Given the description of an element on the screen output the (x, y) to click on. 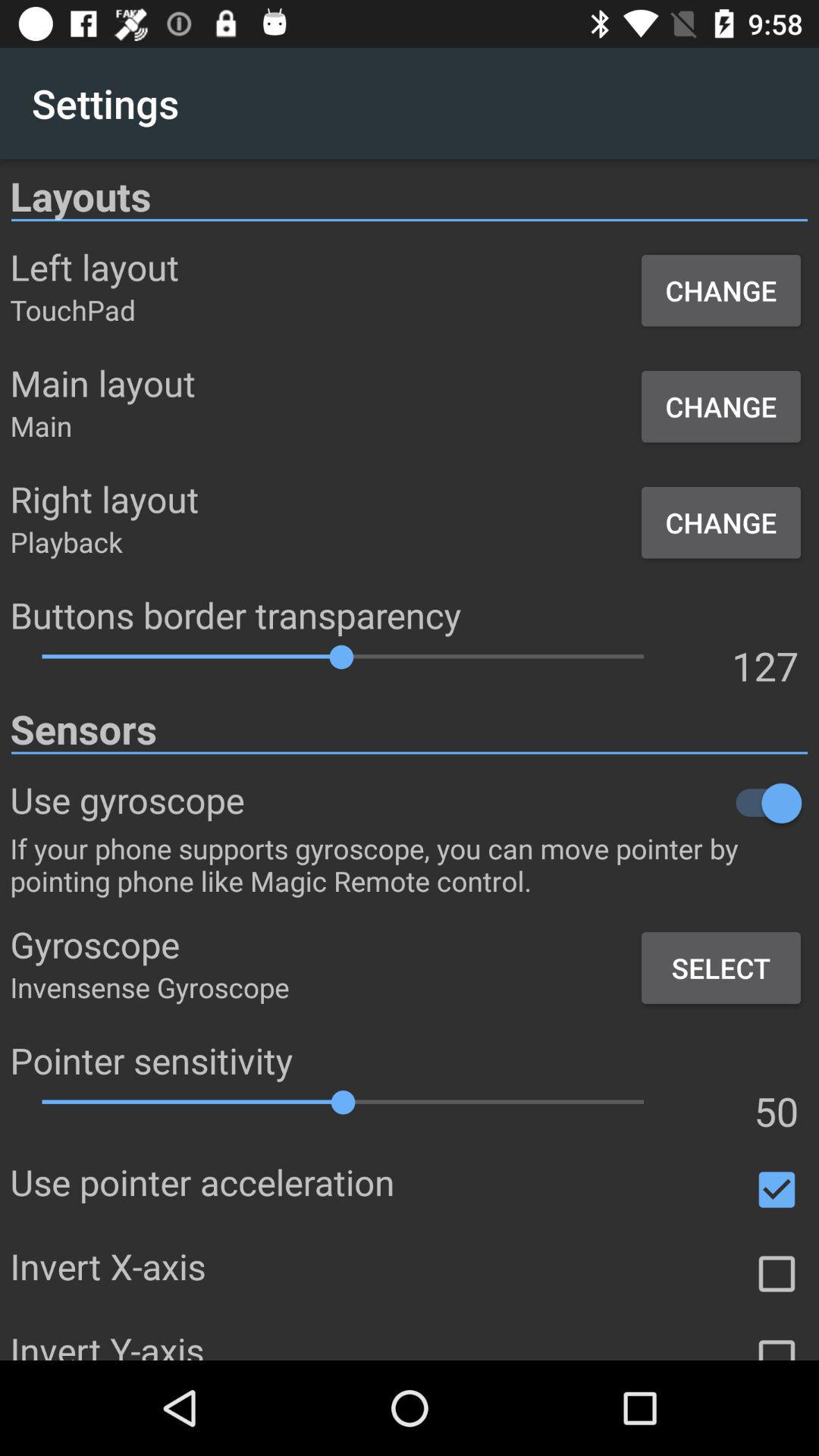
invert y axis (776, 1343)
